Given the description of an element on the screen output the (x, y) to click on. 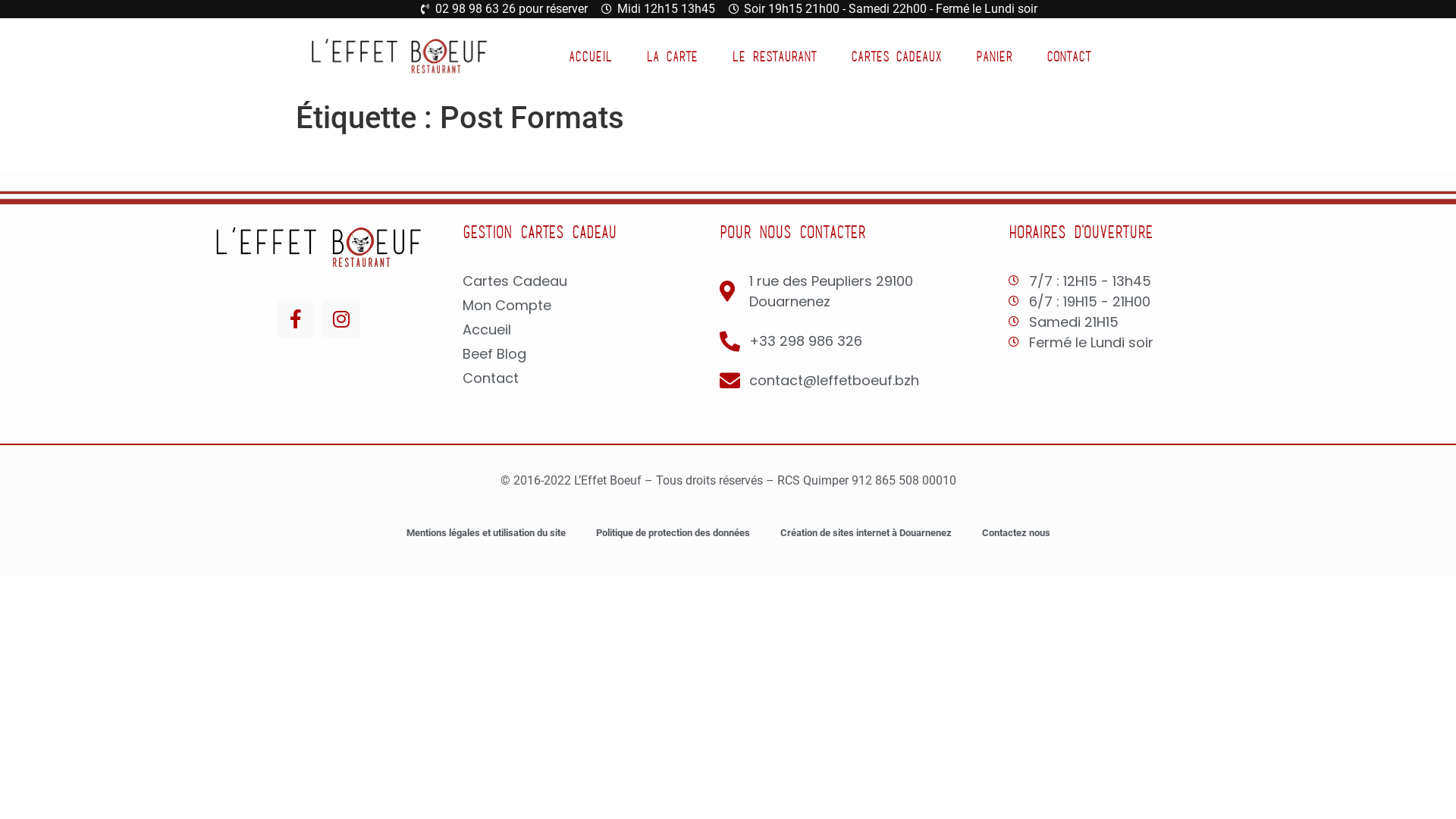
Accueil Element type: text (583, 329)
Cartes Cadeau Element type: text (583, 280)
contact@leffetboeuf.bzh Element type: text (856, 380)
LE RESTAURANT Element type: text (773, 55)
ACCUEIL Element type: text (589, 55)
Mon Compte Element type: text (583, 304)
1 rue des Peupliers 29100 Douarnenez Element type: text (856, 290)
Beef Blog Element type: text (583, 353)
+33 298 986 326 Element type: text (856, 340)
LA CARTE Element type: text (671, 55)
Contactez nous Element type: text (1015, 532)
Contact Element type: text (583, 377)
PANIER Element type: text (993, 55)
CONTACT Element type: text (1068, 55)
CARTES CADEAUX Element type: text (895, 55)
